Given the description of an element on the screen output the (x, y) to click on. 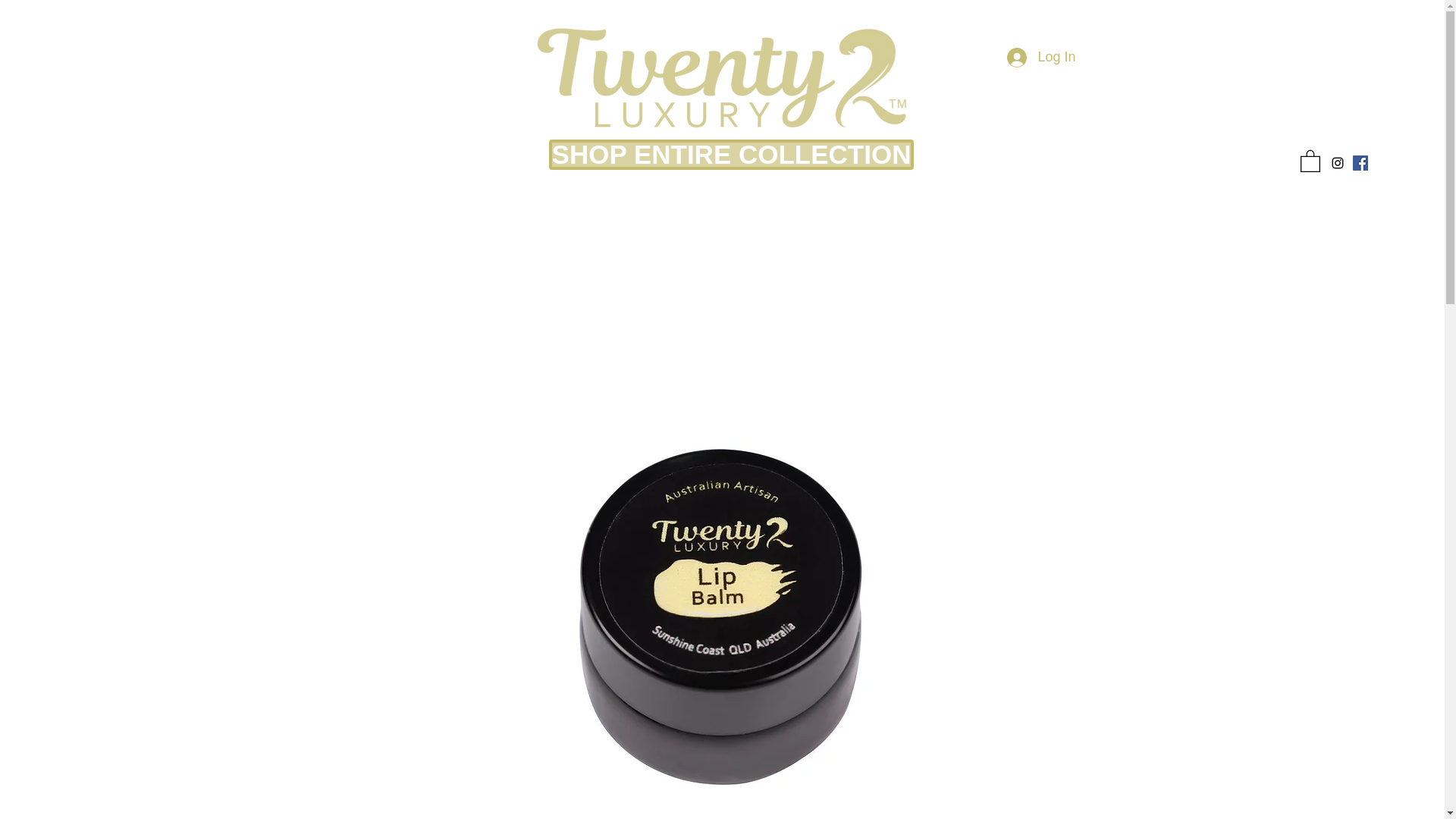
Log In (1040, 57)
TWENTY2LUXURY GIFTING LOGO G (722, 76)
SHOP ENTIRE COLLECTION (731, 154)
